Given the description of an element on the screen output the (x, y) to click on. 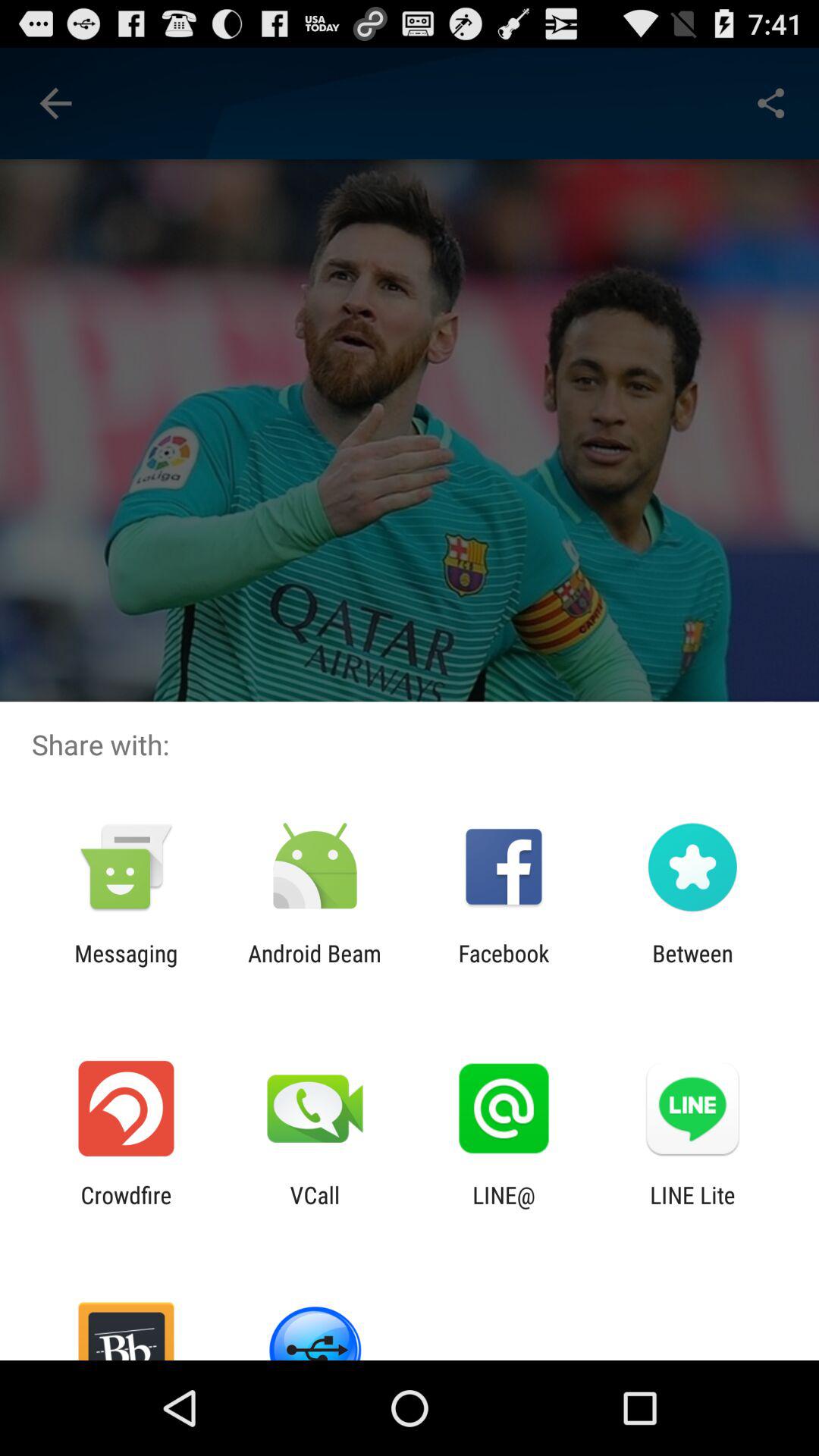
swipe to between item (692, 966)
